Given the description of an element on the screen output the (x, y) to click on. 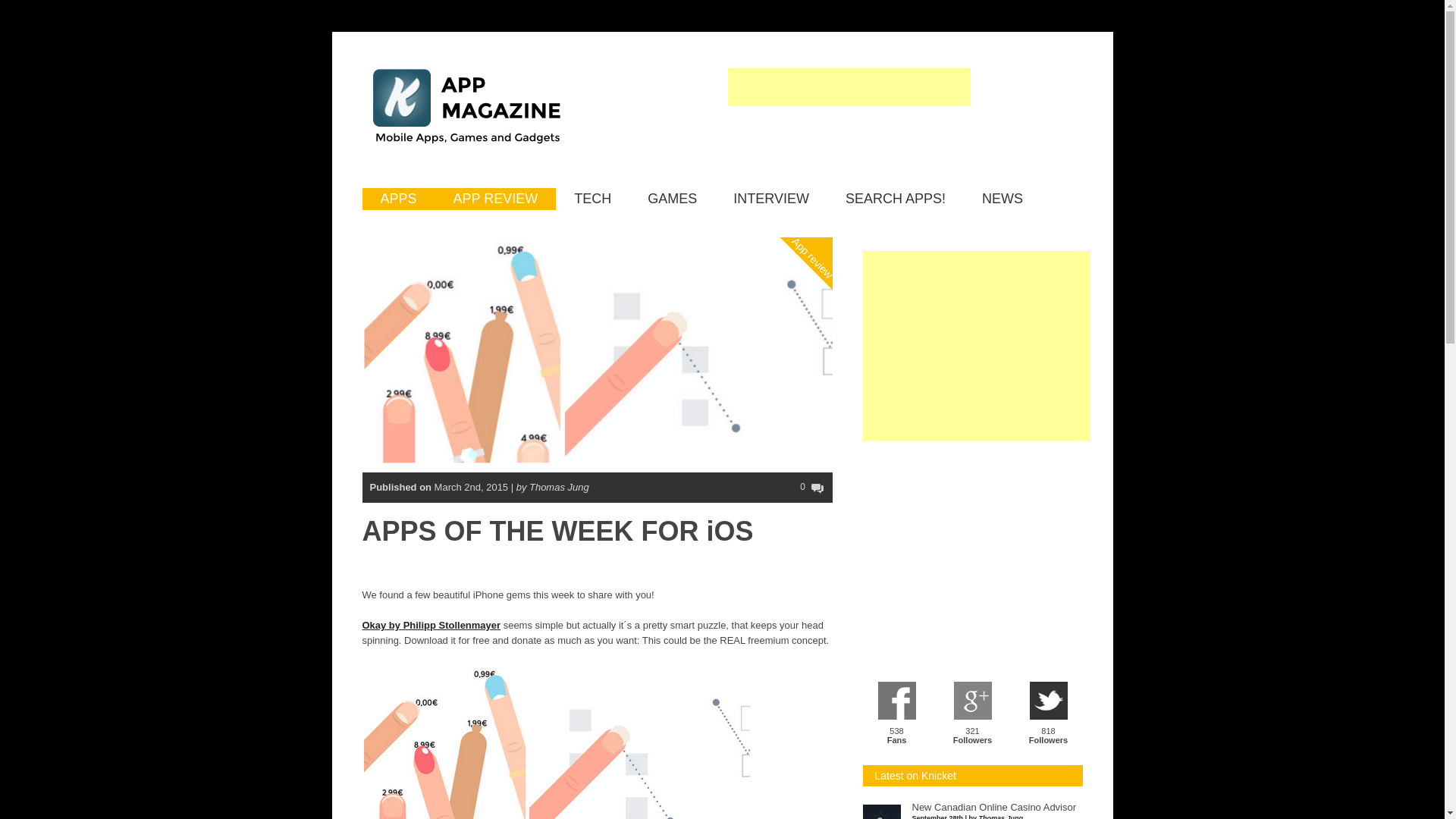
New Canadian Online Casino Advisor (993, 807)
INTERVIEW (770, 198)
App review (828, 196)
NEWS (1002, 198)
Okay by Philipp Stollenmayer (431, 624)
Advertisement (849, 143)
New Canadian Online Casino Advisor (993, 807)
TECH (592, 198)
SEARCH APPS! (895, 198)
APPS (398, 198)
